Given the description of an element on the screen output the (x, y) to click on. 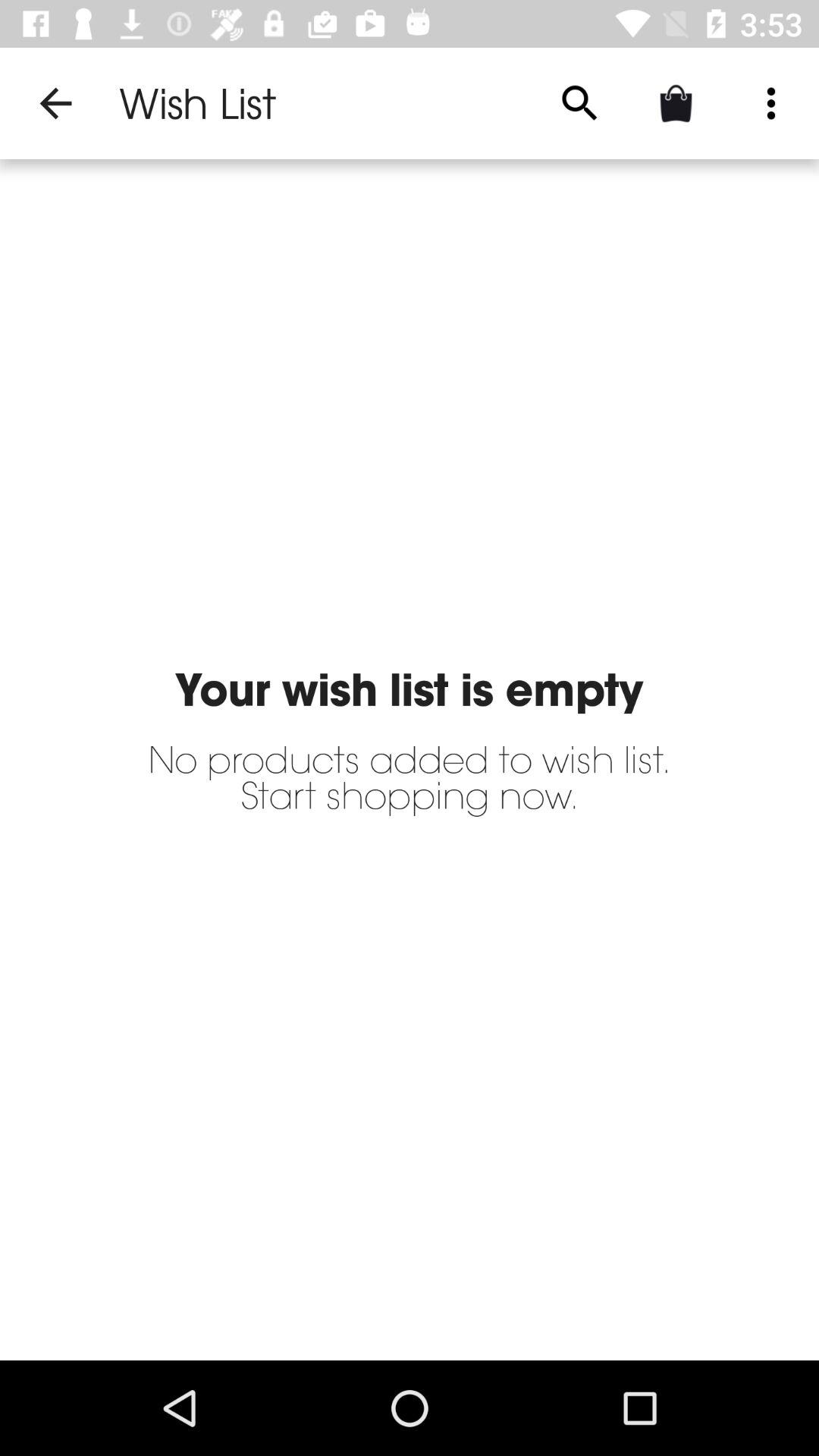
turn off the item above the your wish list (771, 103)
